Given the description of an element on the screen output the (x, y) to click on. 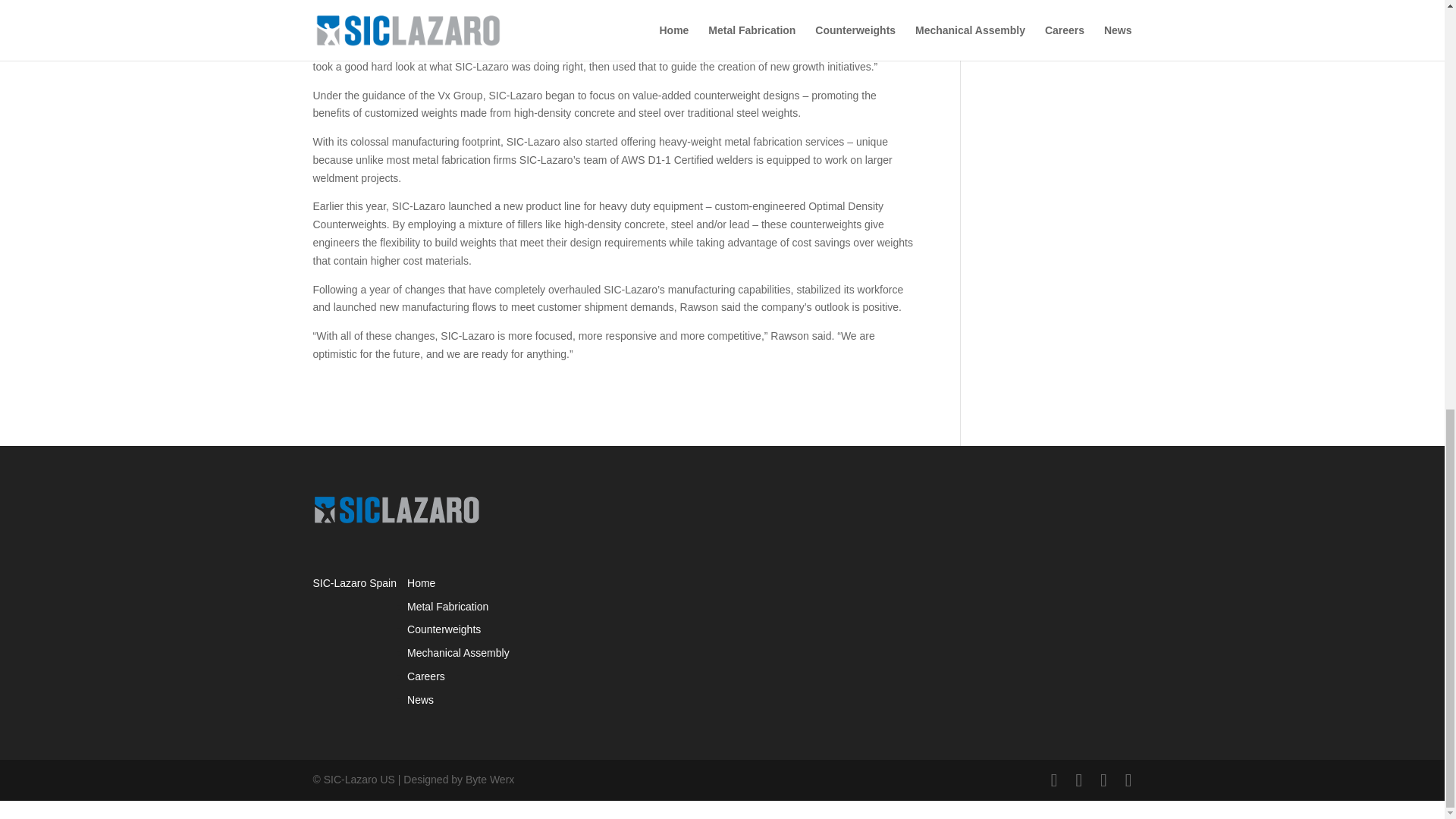
SIC-Lazaro Spain (354, 582)
News (420, 699)
Mechanical Assembly (458, 653)
Careers (426, 676)
Counterweights (443, 629)
Home (421, 582)
Metal Fabrication (447, 606)
